Given the description of an element on the screen output the (x, y) to click on. 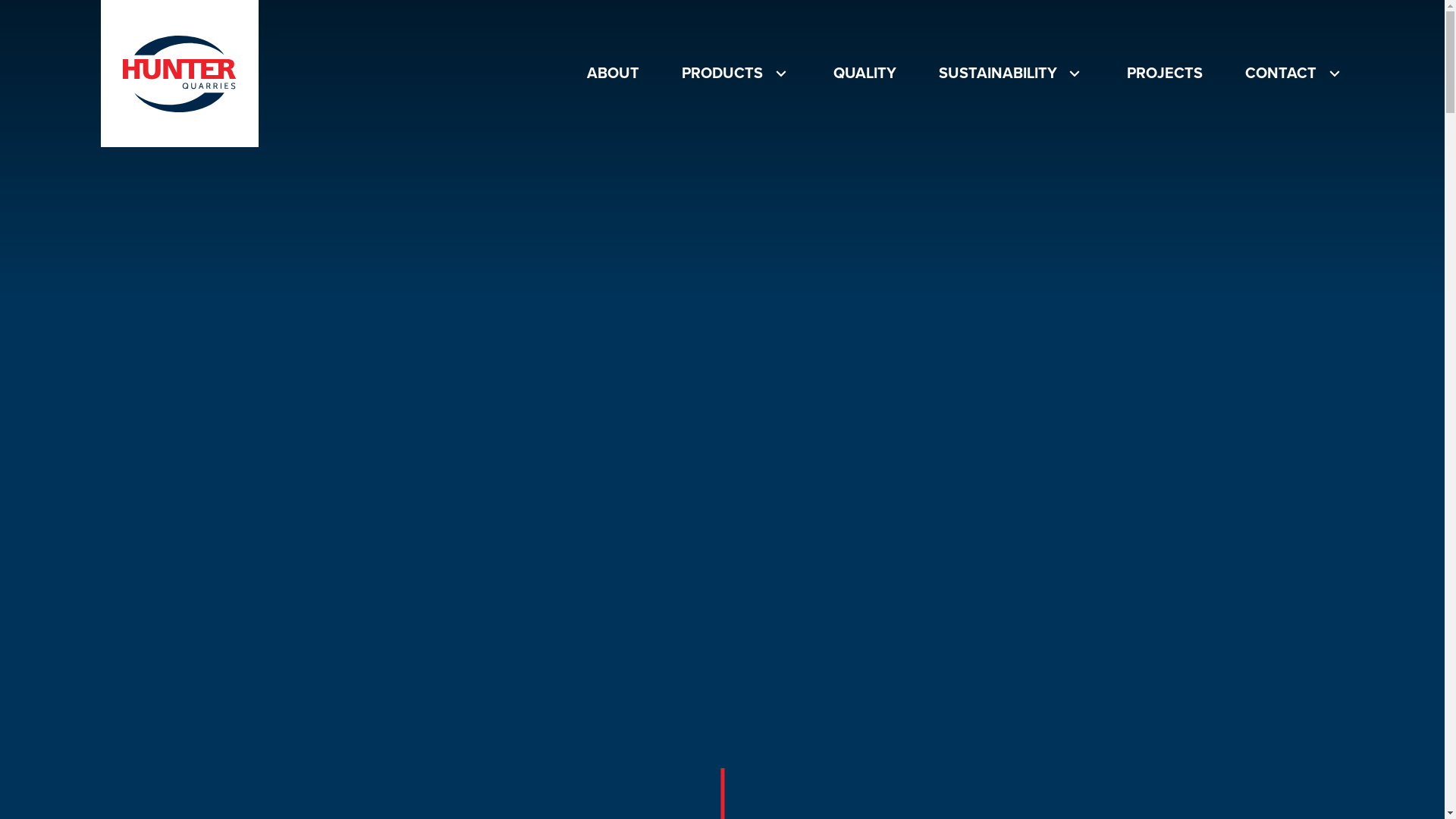
QUALITY Element type: text (864, 73)
CONTACT Element type: text (1294, 73)
PROJECTS Element type: text (1164, 73)
ABOUT Element type: text (612, 73)
SUSTAINABILITY Element type: text (1011, 73)
PRODUCTS Element type: text (735, 73)
